Given the description of an element on the screen output the (x, y) to click on. 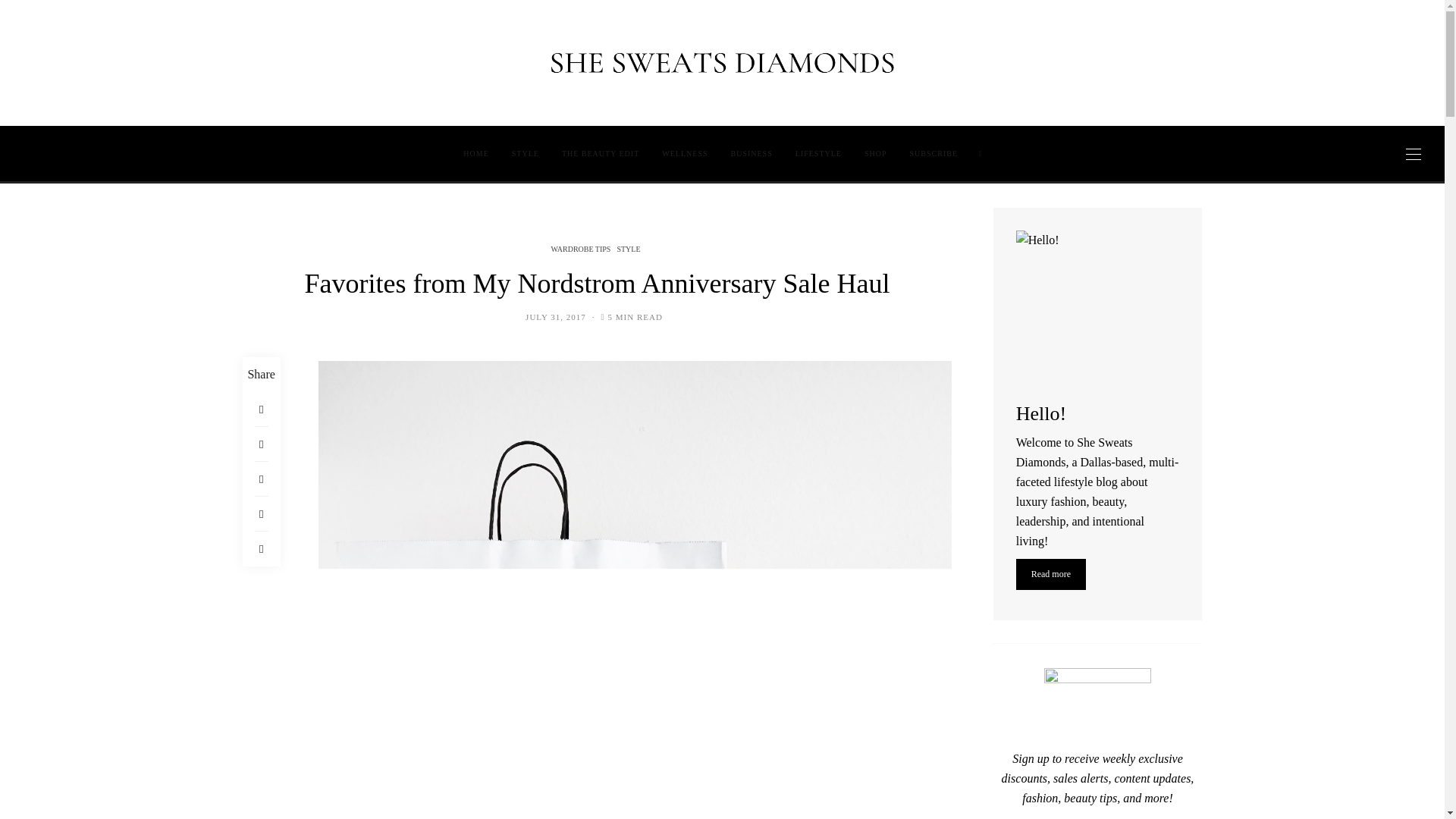
THE BEAUTY EDIT (600, 153)
STYLE (525, 153)
WELLNESS (684, 153)
